Given the description of an element on the screen output the (x, y) to click on. 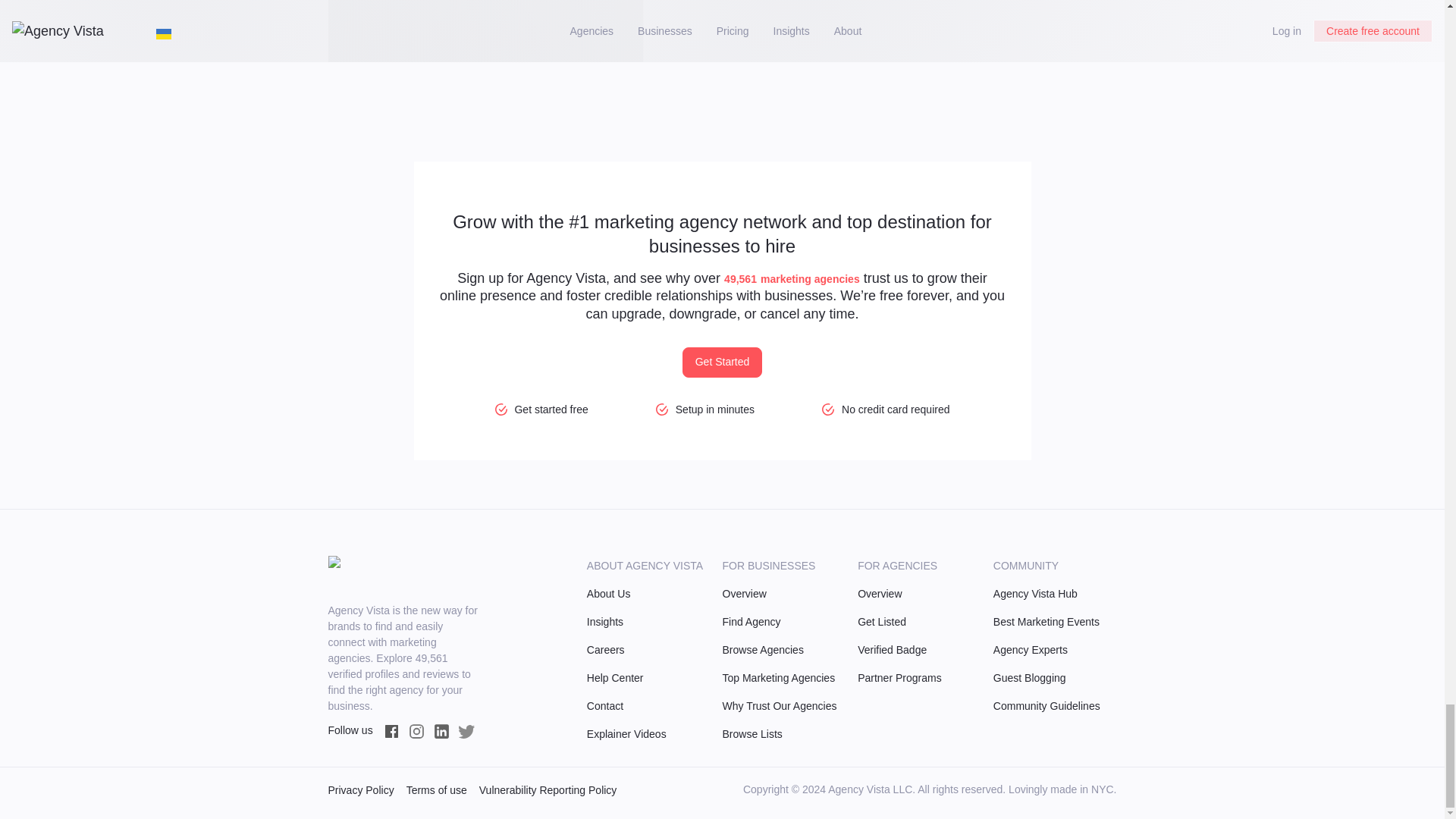
Help Center (648, 678)
Insights (648, 621)
Careers (648, 650)
Get Started (722, 362)
About Us (648, 593)
